Given the description of an element on the screen output the (x, y) to click on. 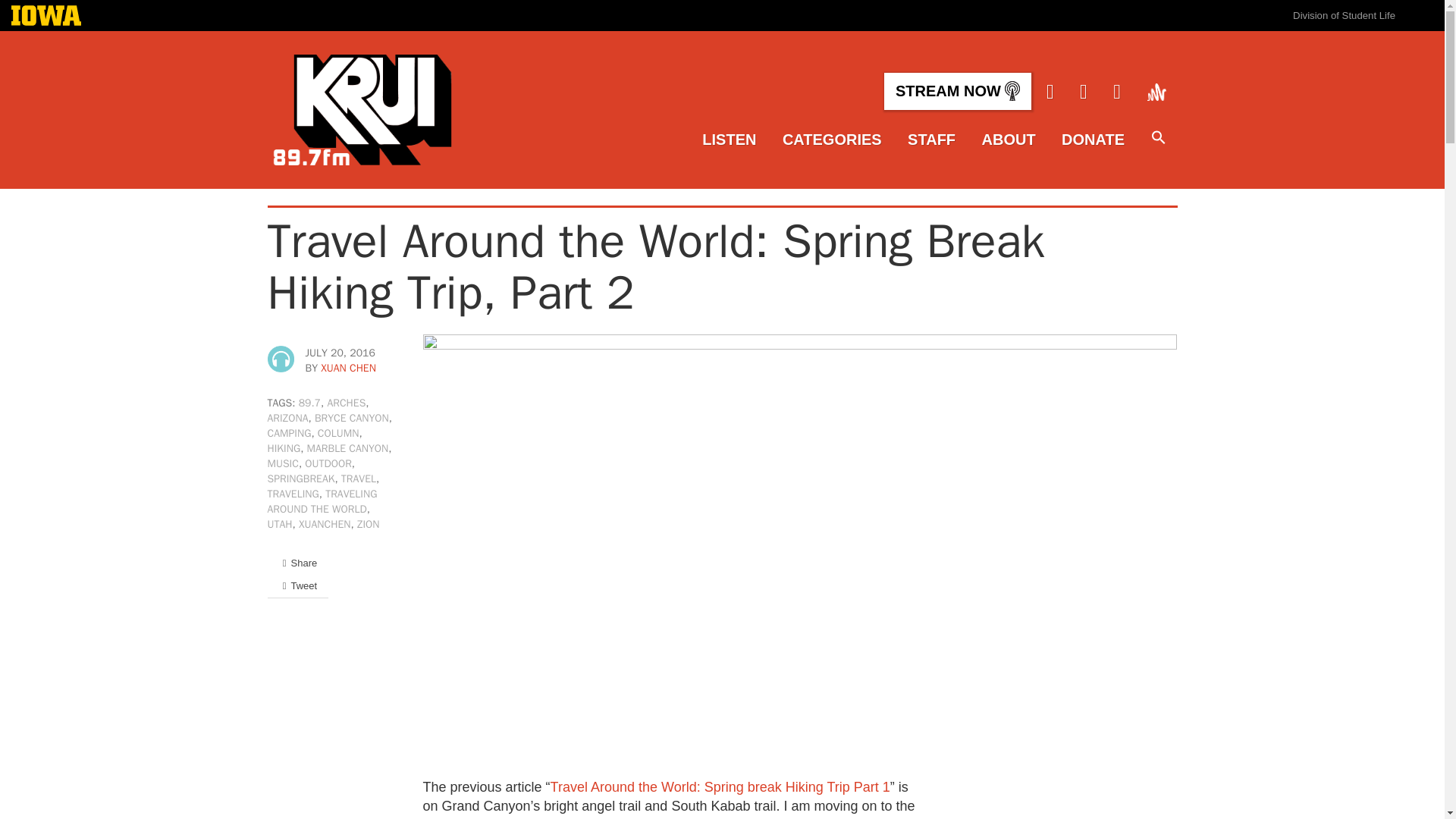
ABOUT (1008, 139)
STAFF (931, 139)
The University of Iowa (46, 16)
Share on Twitter (296, 585)
Division of Student Life (1343, 15)
LISTEN (728, 139)
CATEGORIES (832, 139)
Share on Facebook (296, 562)
STREAM NOW (956, 90)
